Given the description of an element on the screen output the (x, y) to click on. 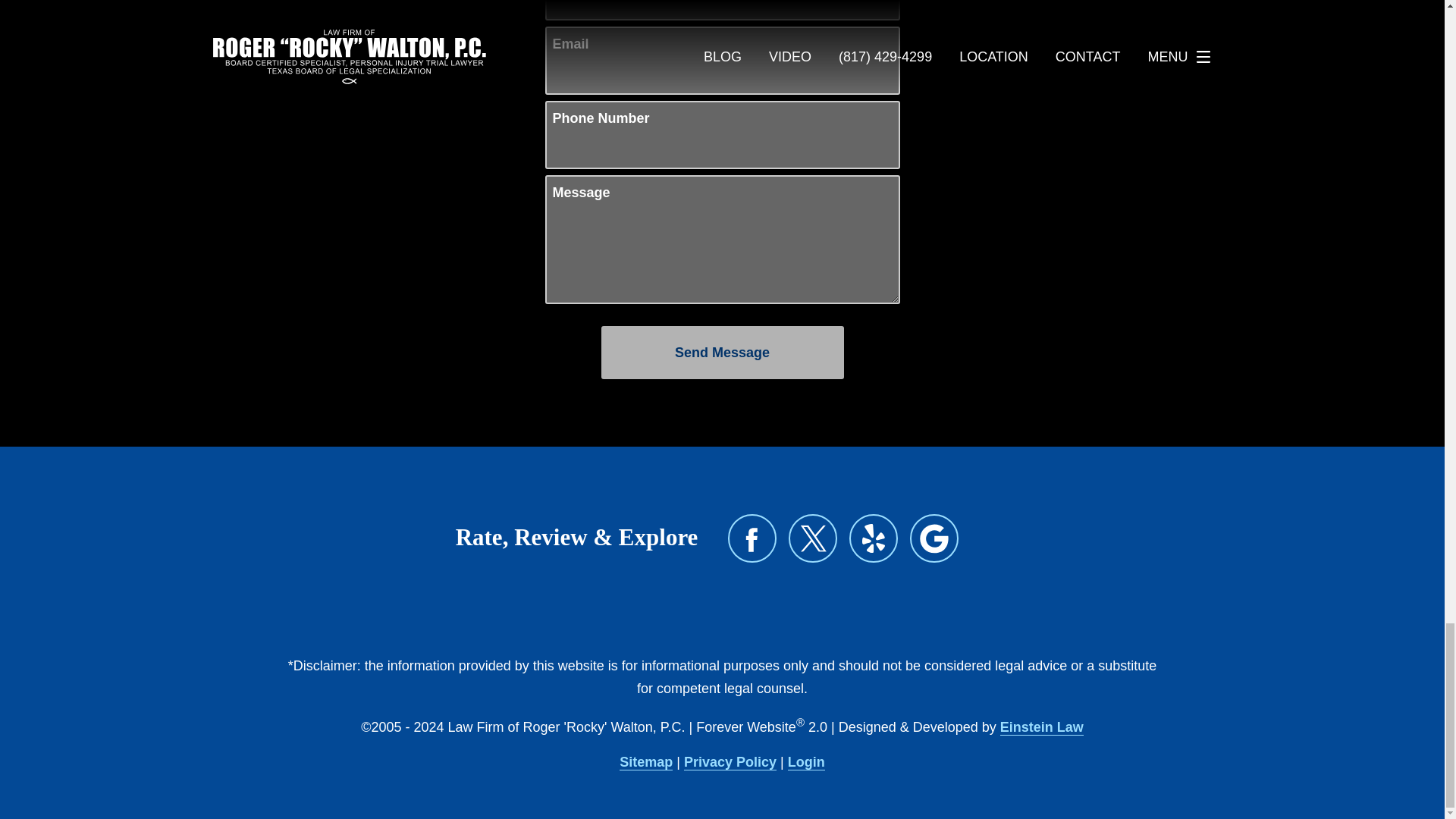
Yelp (873, 538)
Sitemap (646, 762)
Privacy Policy (730, 762)
Send Message (721, 352)
Google (934, 538)
Einstein Law (1041, 727)
Facebook (752, 538)
Twitter (813, 538)
Login (806, 762)
